Given the description of an element on the screen output the (x, y) to click on. 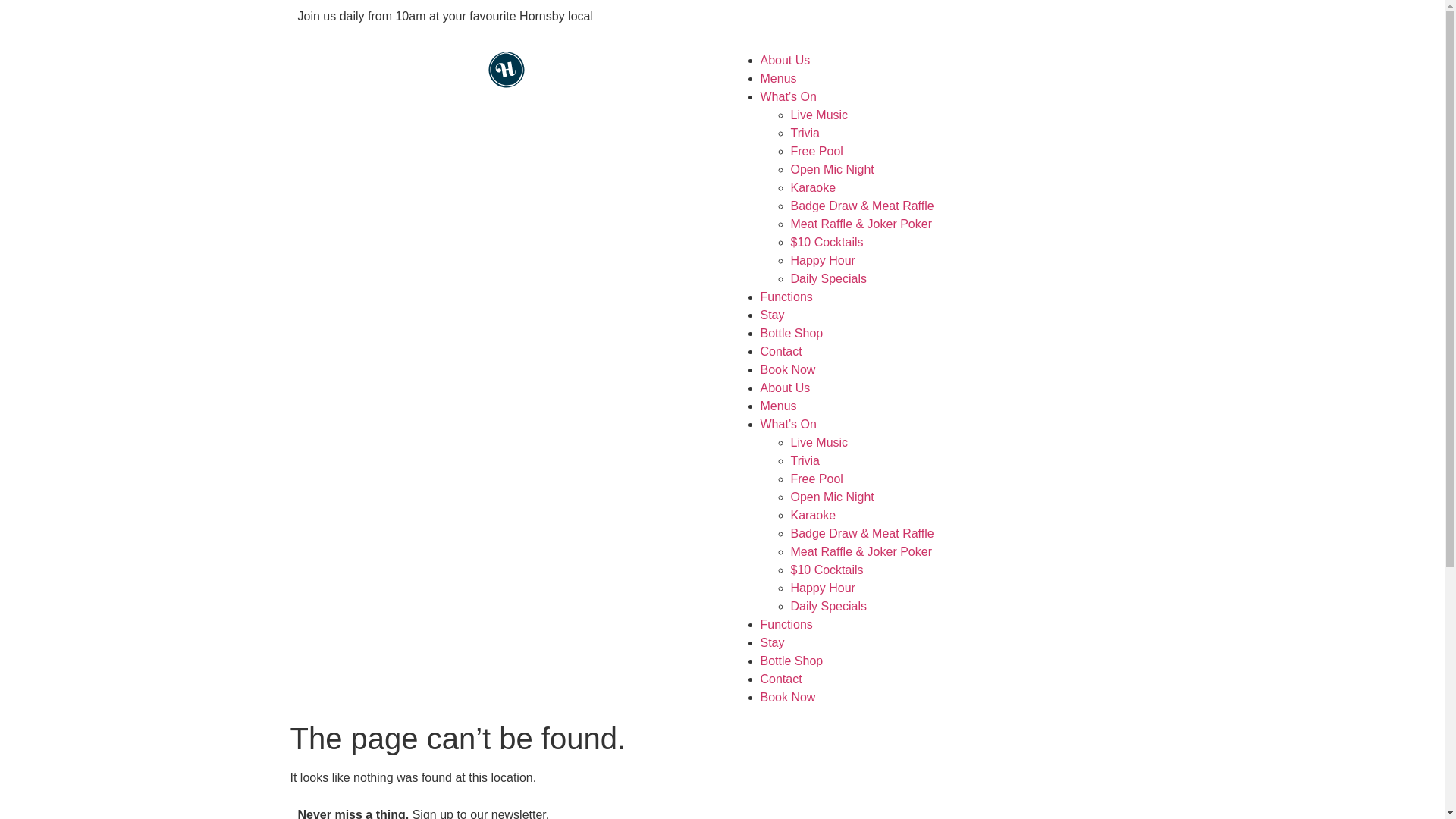
Badge Draw & Meat Raffle Element type: text (861, 205)
About Us Element type: text (784, 59)
Book Now Element type: text (787, 696)
Live Music Element type: text (818, 442)
About Us Element type: text (784, 387)
Book Now Element type: text (787, 369)
Happy Hour Element type: text (822, 587)
Bottle Shop Element type: text (790, 660)
Badge Draw & Meat Raffle Element type: text (861, 533)
Happy Hour Element type: text (822, 260)
Functions Element type: text (785, 624)
Open Mic Night Element type: text (831, 169)
Stay Element type: text (771, 642)
Contact Element type: text (780, 351)
Daily Specials Element type: text (828, 605)
Free Pool Element type: text (816, 150)
Karaoke Element type: text (812, 514)
Daily Specials Element type: text (828, 278)
$10 Cocktails Element type: text (826, 241)
Trivia Element type: text (804, 460)
$10 Cocktails Element type: text (826, 569)
Open Mic Night Element type: text (831, 496)
Trivia Element type: text (804, 132)
Menus Element type: text (777, 405)
Menus Element type: text (777, 78)
Functions Element type: text (785, 296)
Stay Element type: text (771, 314)
Meat Raffle & Joker Poker Element type: text (860, 223)
Contact Element type: text (780, 678)
Meat Raffle & Joker Poker Element type: text (860, 551)
Bottle Shop Element type: text (790, 332)
Karaoke Element type: text (812, 187)
Free Pool Element type: text (816, 478)
Live Music Element type: text (818, 114)
